Given the description of an element on the screen output the (x, y) to click on. 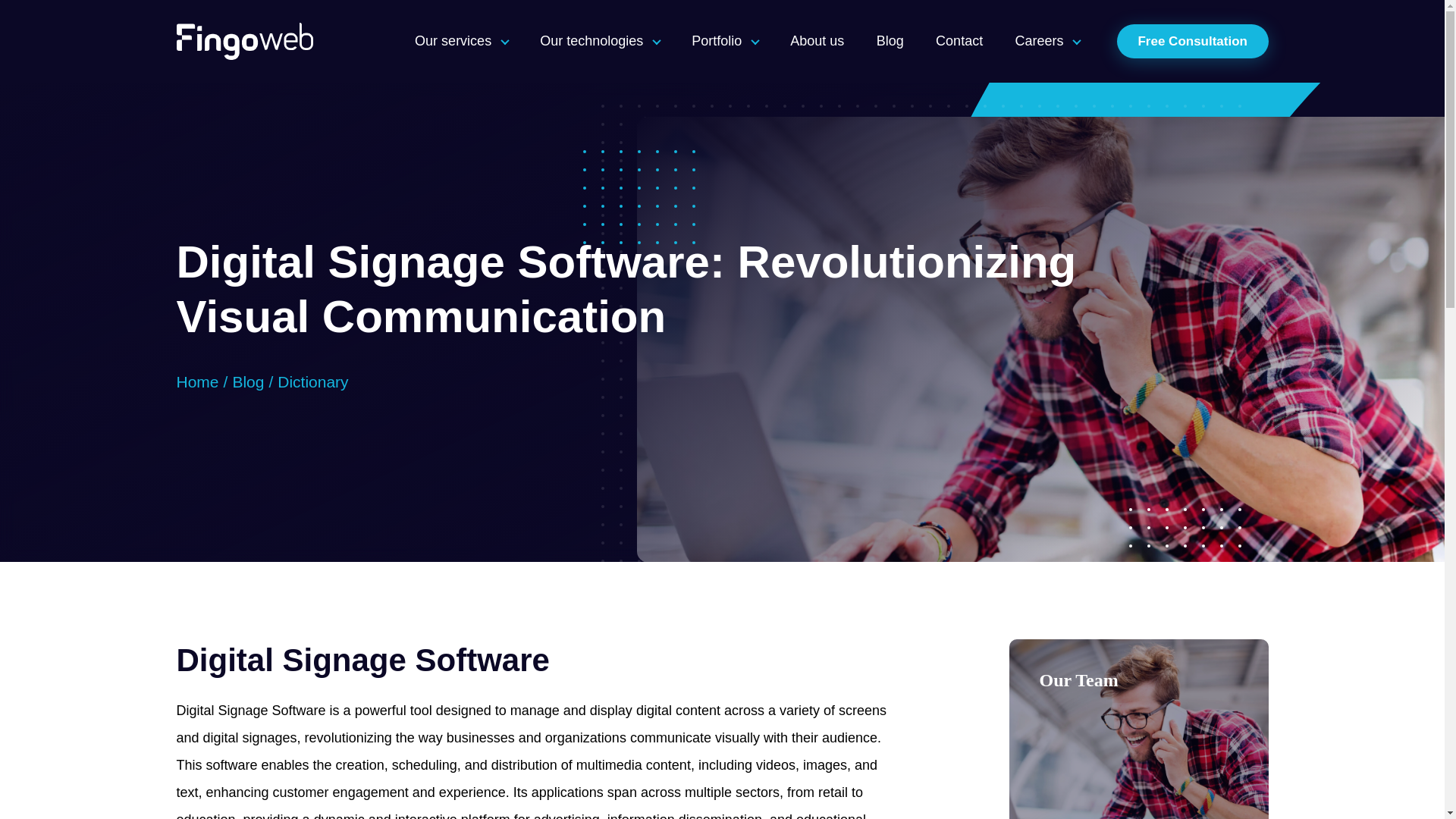
Blog (889, 41)
Our technologies (599, 41)
Free Consultation (1192, 41)
Contact (958, 41)
Portfolio (724, 41)
Our services (461, 41)
About us (816, 41)
Careers (1048, 41)
